Given the description of an element on the screen output the (x, y) to click on. 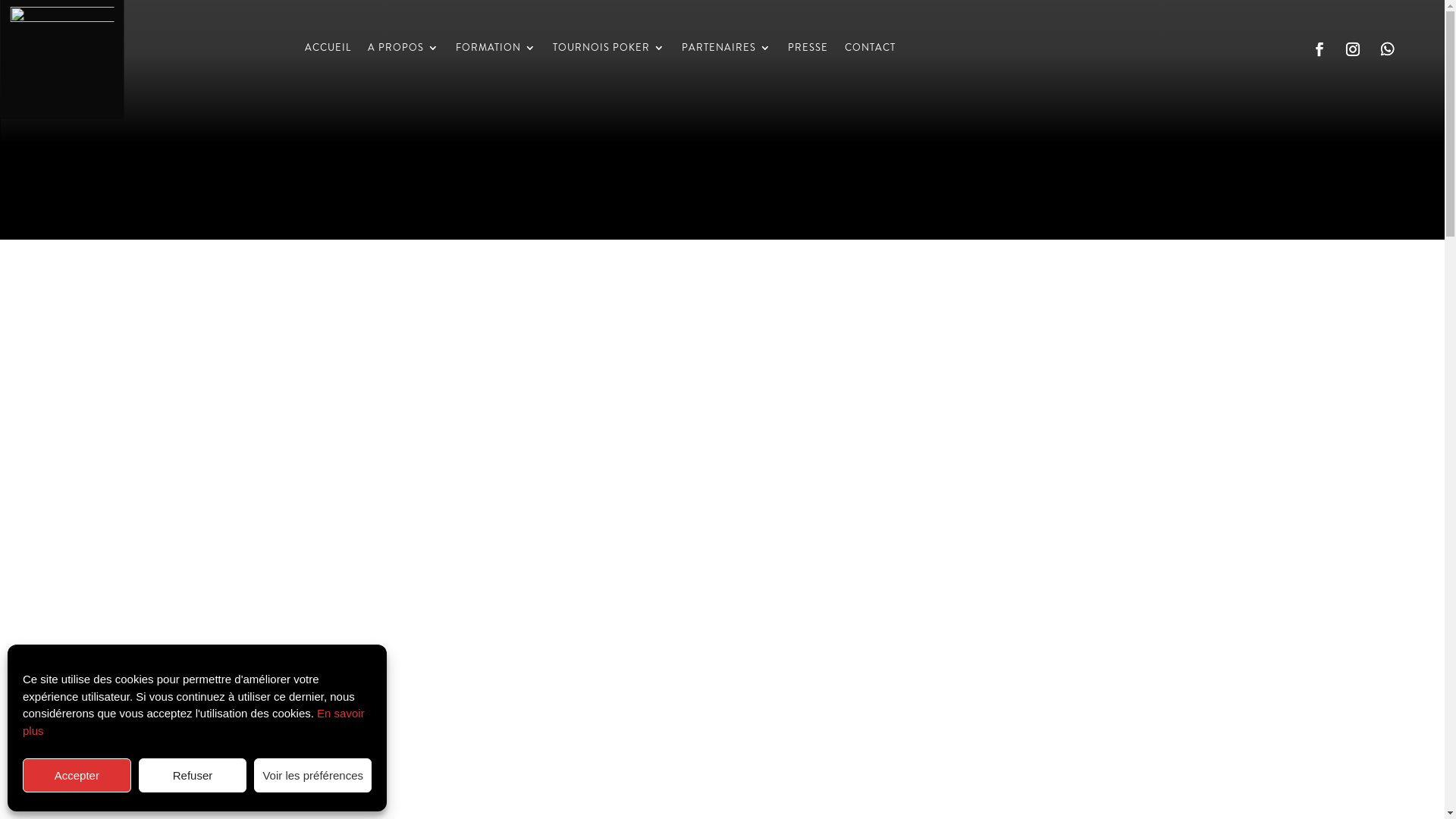
CONTACT Element type: text (869, 50)
ACCUEIL Element type: text (327, 50)
PARTENAIRES Element type: text (726, 50)
FORMATION Element type: text (495, 50)
Accepter Element type: text (76, 775)
En savoir plus Element type: text (193, 721)
TOURNOIS POKER Element type: text (608, 50)
PRESSE Element type: text (807, 50)
Suivez sur Instagram Element type: hover (1352, 48)
Suivez sur Whatsapp Element type: hover (1387, 49)
Refuser Element type: text (192, 775)
Casino-formation-logoBlanc Element type: hover (61, 58)
Suivez sur Facebook Element type: hover (1319, 48)
A PROPOS Element type: text (403, 50)
